Given the description of an element on the screen output the (x, y) to click on. 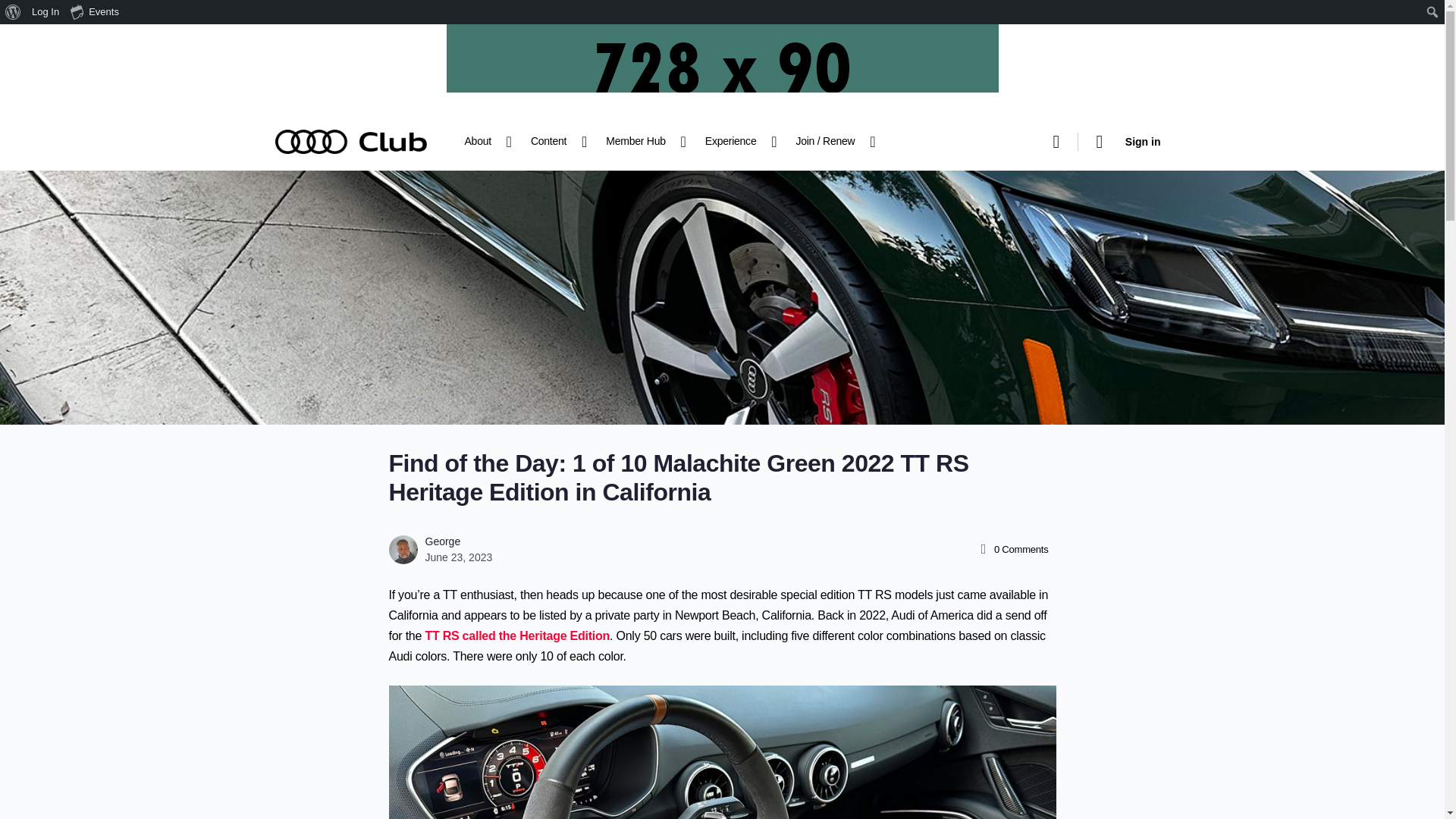
Log In (45, 12)
Member Hub (641, 141)
Search (16, 12)
Events (95, 12)
About (484, 141)
Content (554, 141)
